Given the description of an element on the screen output the (x, y) to click on. 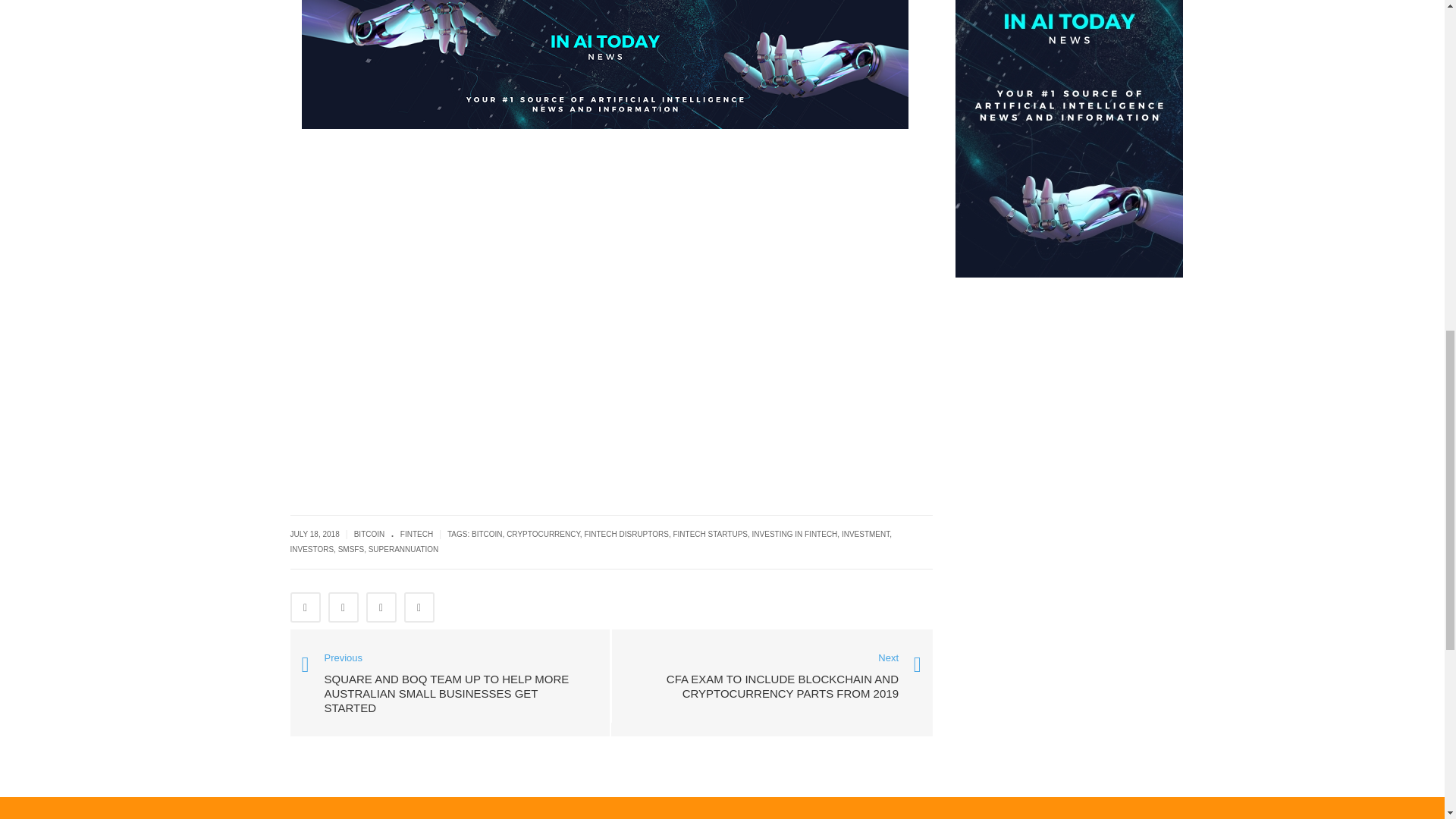
BITCOIN (369, 533)
Share on LinkedIn (380, 607)
Email this (418, 607)
Share on Facebook (304, 607)
Share on Twitter (342, 607)
